Given the description of an element on the screen output the (x, y) to click on. 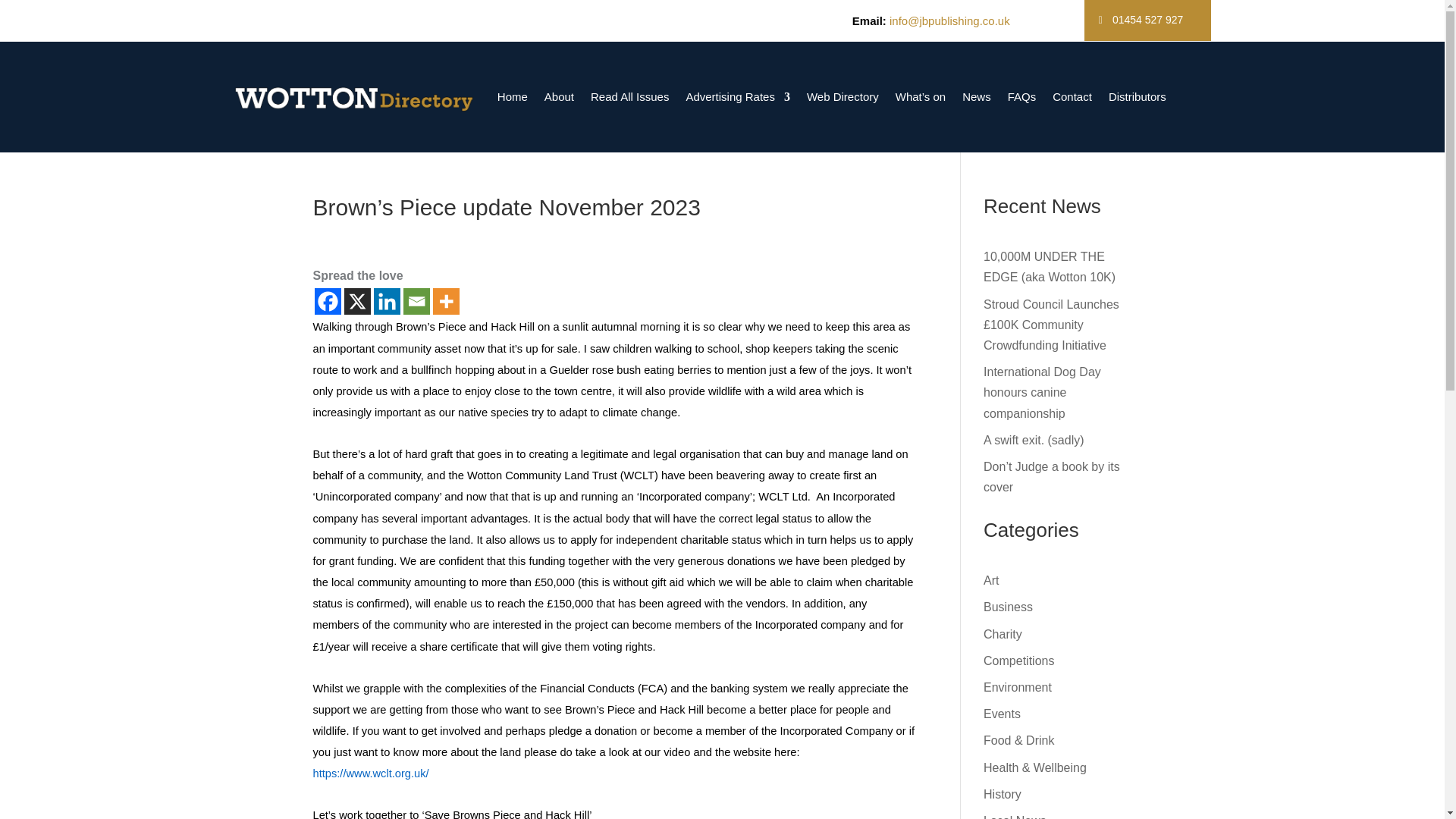
X (357, 301)
Web Directory (842, 96)
Read All Issues (629, 96)
Distributors (1137, 96)
Advertising Rates (737, 96)
Email (416, 301)
Linkedin (385, 301)
Facebook (327, 301)
More (445, 301)
01454 527 927 (1147, 20)
